Given the description of an element on the screen output the (x, y) to click on. 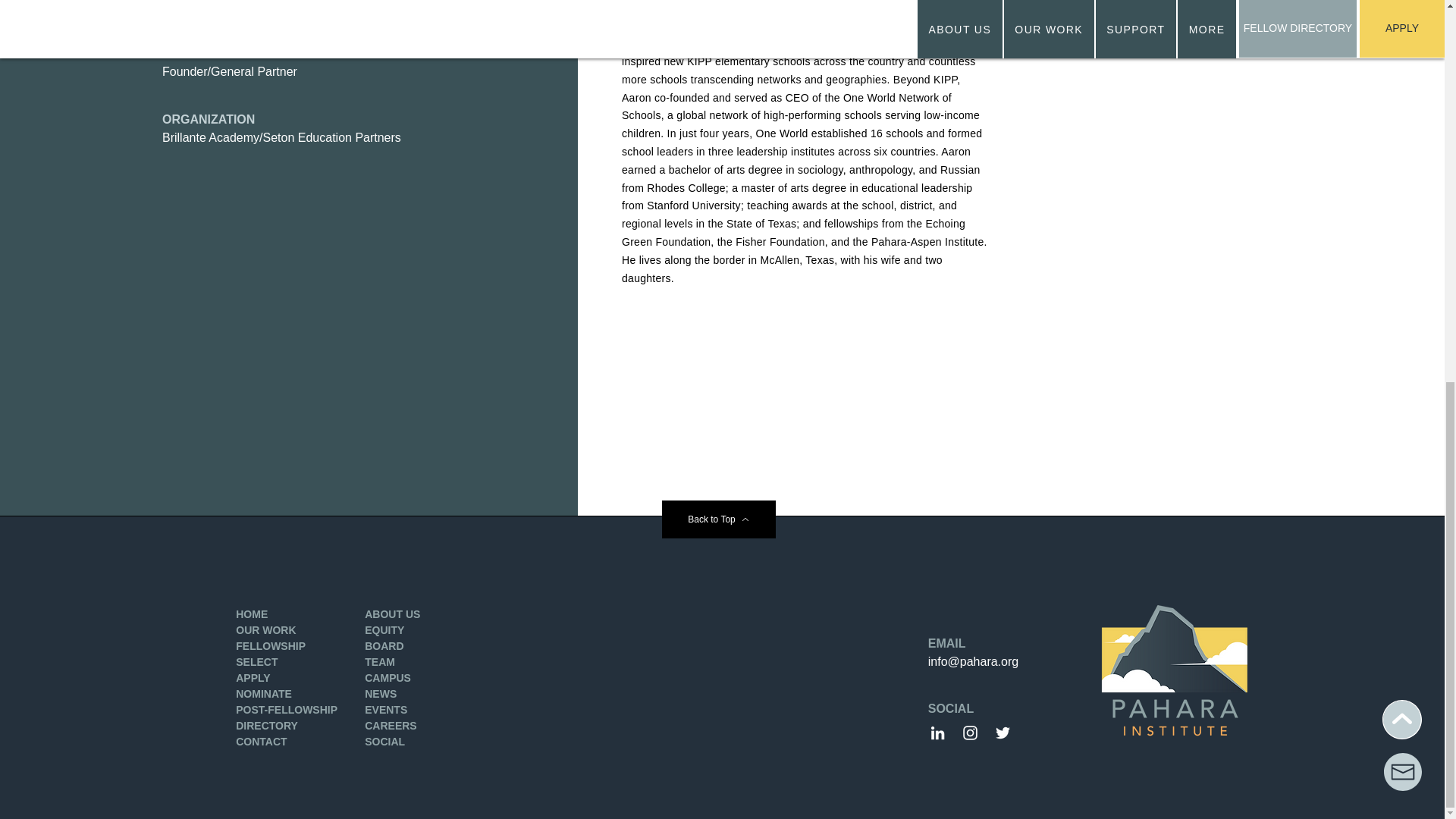
CAMPUS (387, 677)
CAREERS (390, 725)
SOCIAL (384, 741)
FELLOWSHIP (270, 645)
POST-FELLOWSHIP (286, 709)
CONTACT (260, 741)
OUR WORK (265, 630)
NEWS (380, 693)
Back to Top (717, 519)
TEAM (379, 662)
SELECT (256, 662)
EVENTS (386, 709)
ABOUT US (392, 613)
APPLY (252, 677)
EQUITY (384, 630)
